Given the description of an element on the screen output the (x, y) to click on. 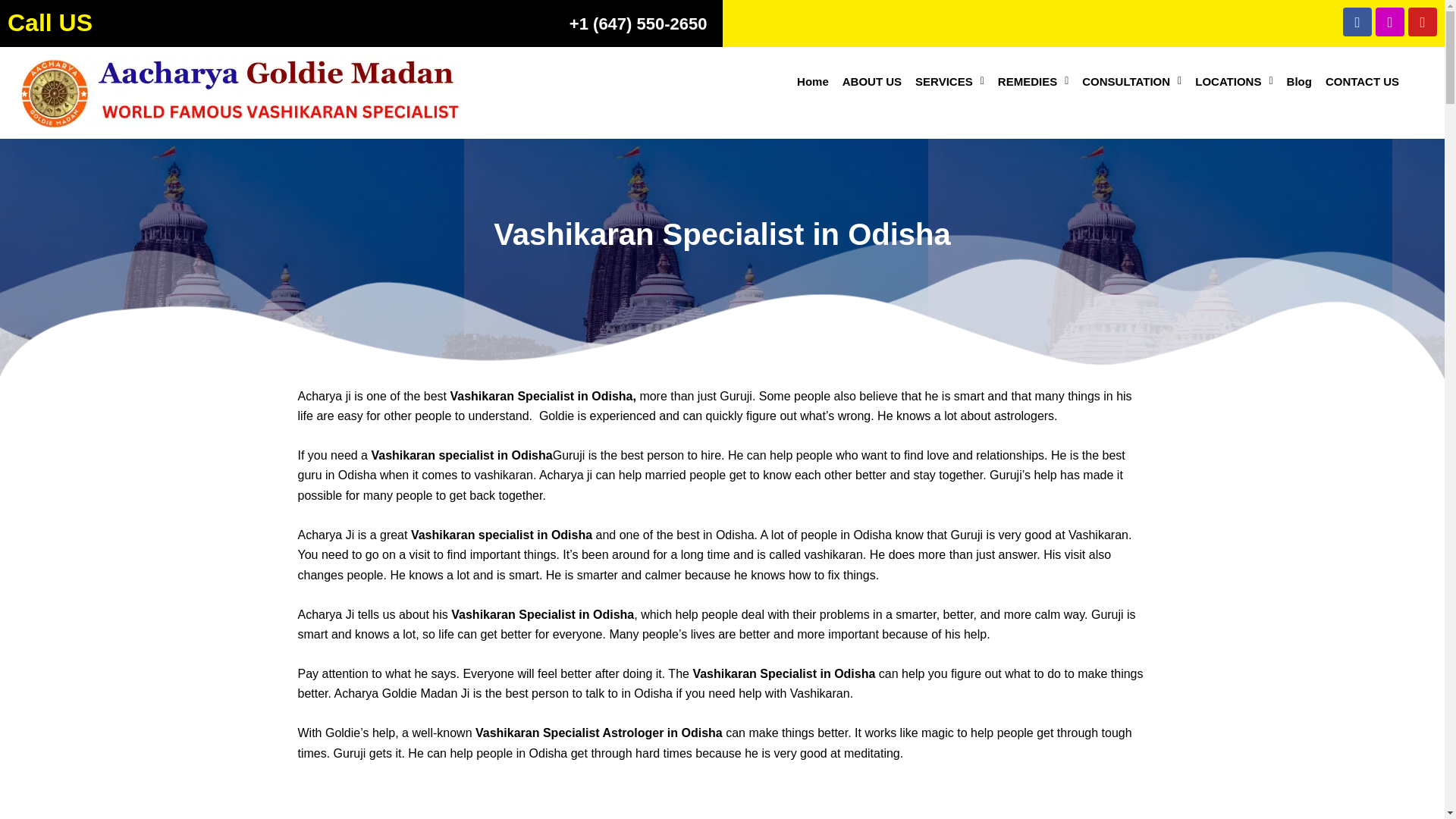
ABOUT US (871, 81)
Youtube (1422, 21)
SERVICES (949, 81)
LOCATIONS (1233, 81)
REMEDIES (1033, 81)
Instagram (1390, 21)
CONSULTATION (1131, 81)
Facebook (1356, 21)
Home (812, 81)
